Given the description of an element on the screen output the (x, y) to click on. 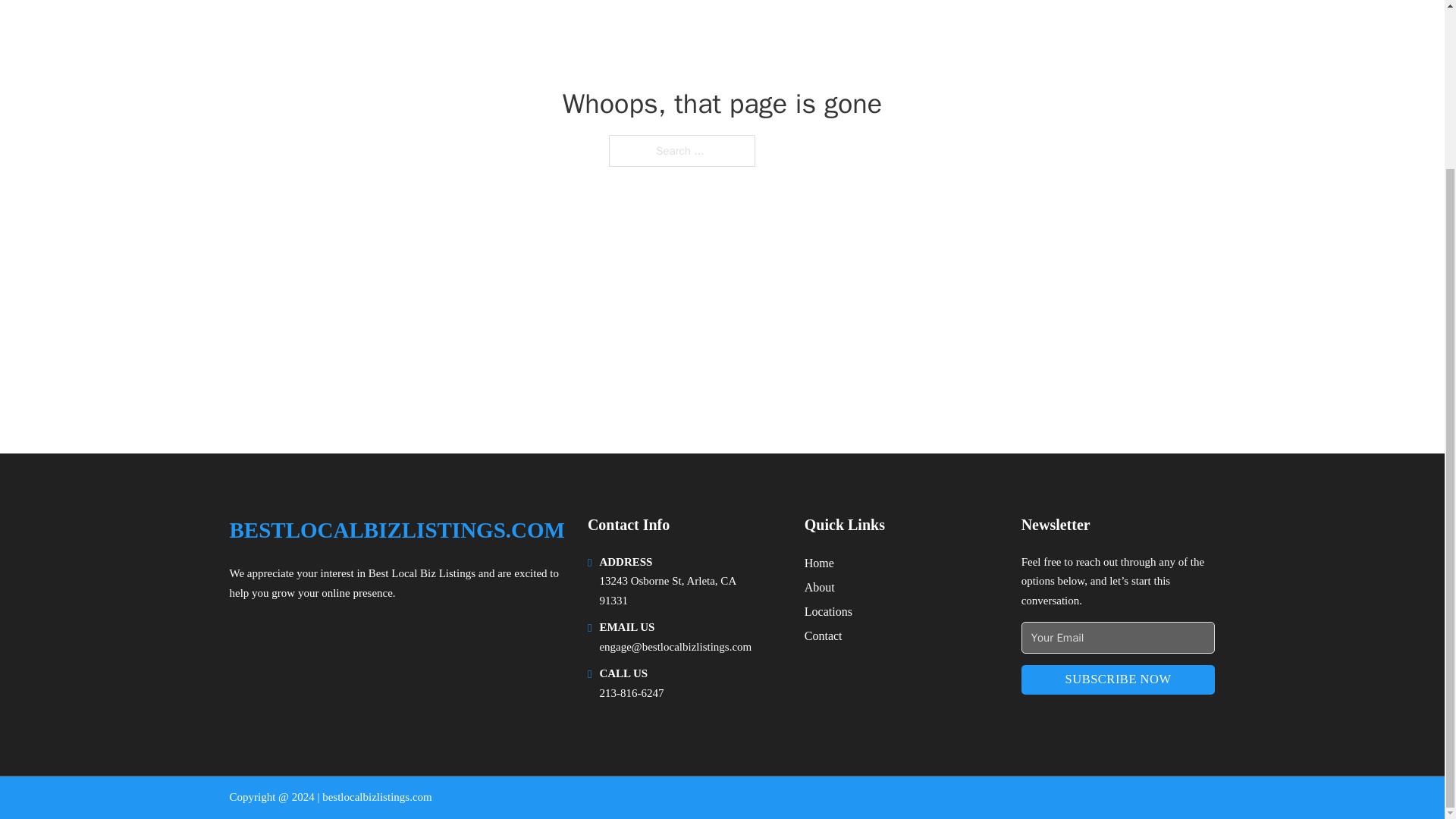
Locations (828, 611)
Contact (824, 635)
About (819, 587)
213-816-6247 (630, 693)
BESTLOCALBIZLISTINGS.COM (396, 529)
Home (819, 562)
SUBSCRIBE NOW (1118, 679)
